Given the description of an element on the screen output the (x, y) to click on. 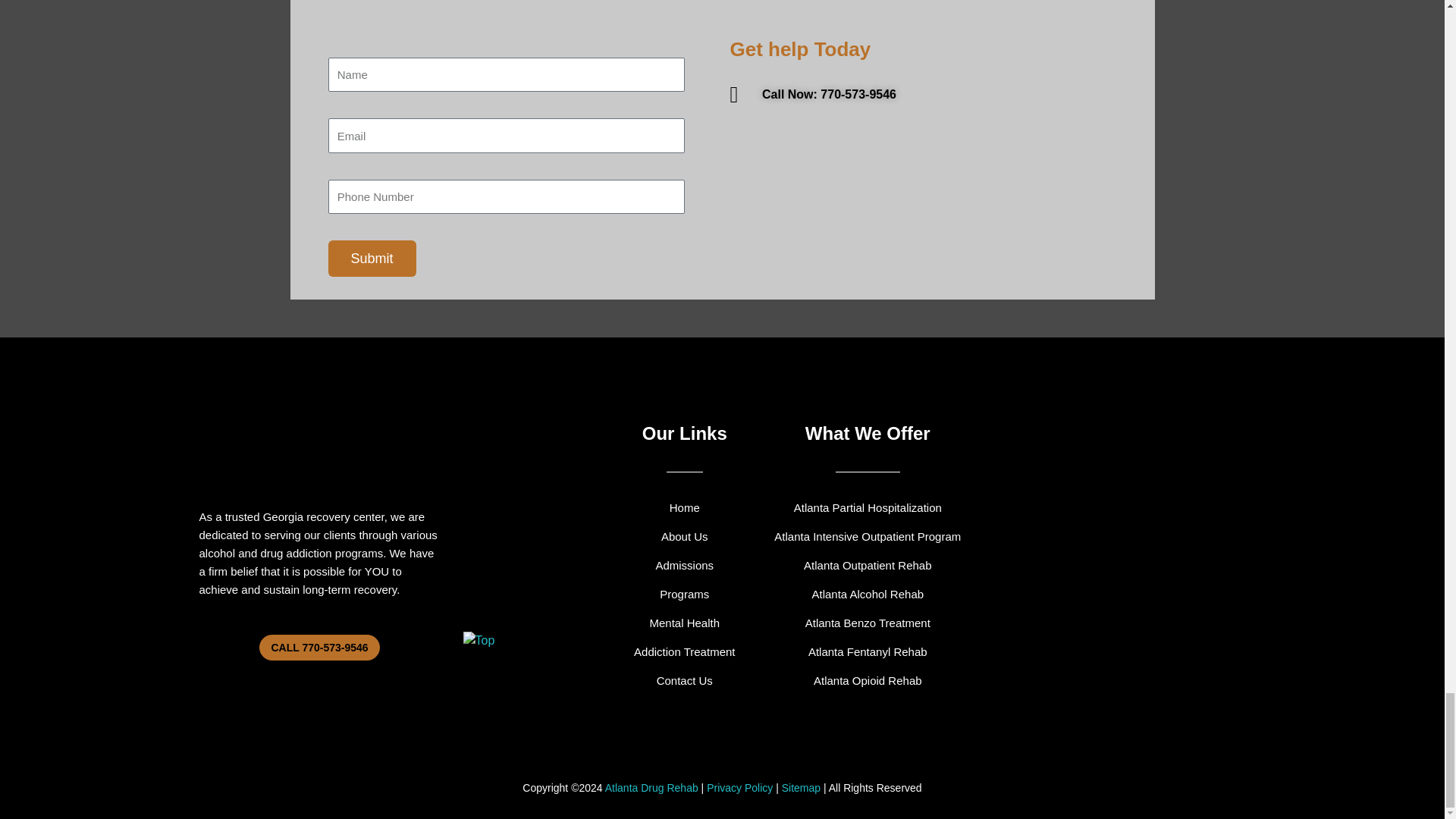
hope-harbor-wellness (319, 433)
Joint-Commission-Accreditation (531, 417)
